Given the description of an element on the screen output the (x, y) to click on. 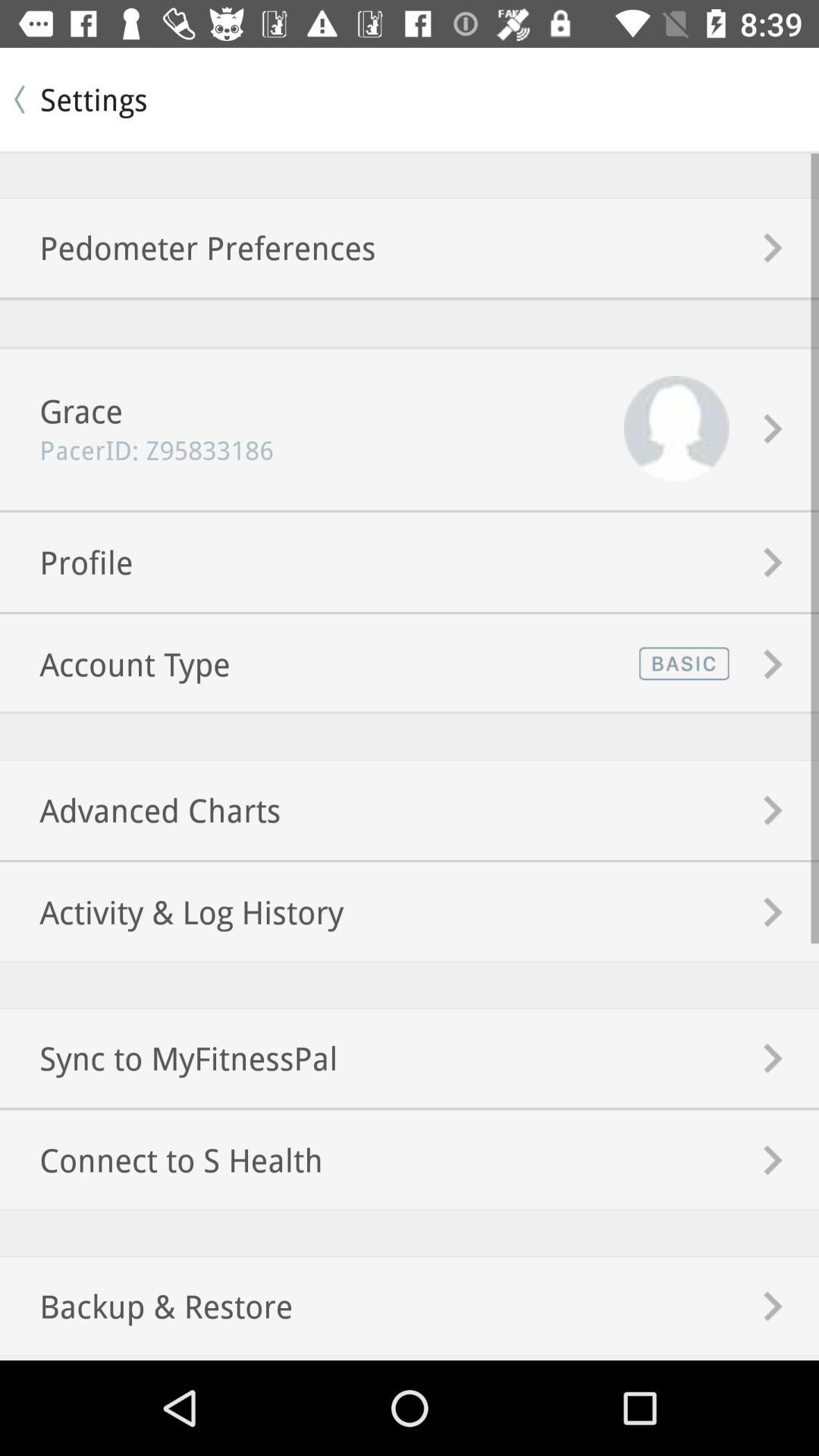
swipe until connect to s (161, 1159)
